Given the description of an element on the screen output the (x, y) to click on. 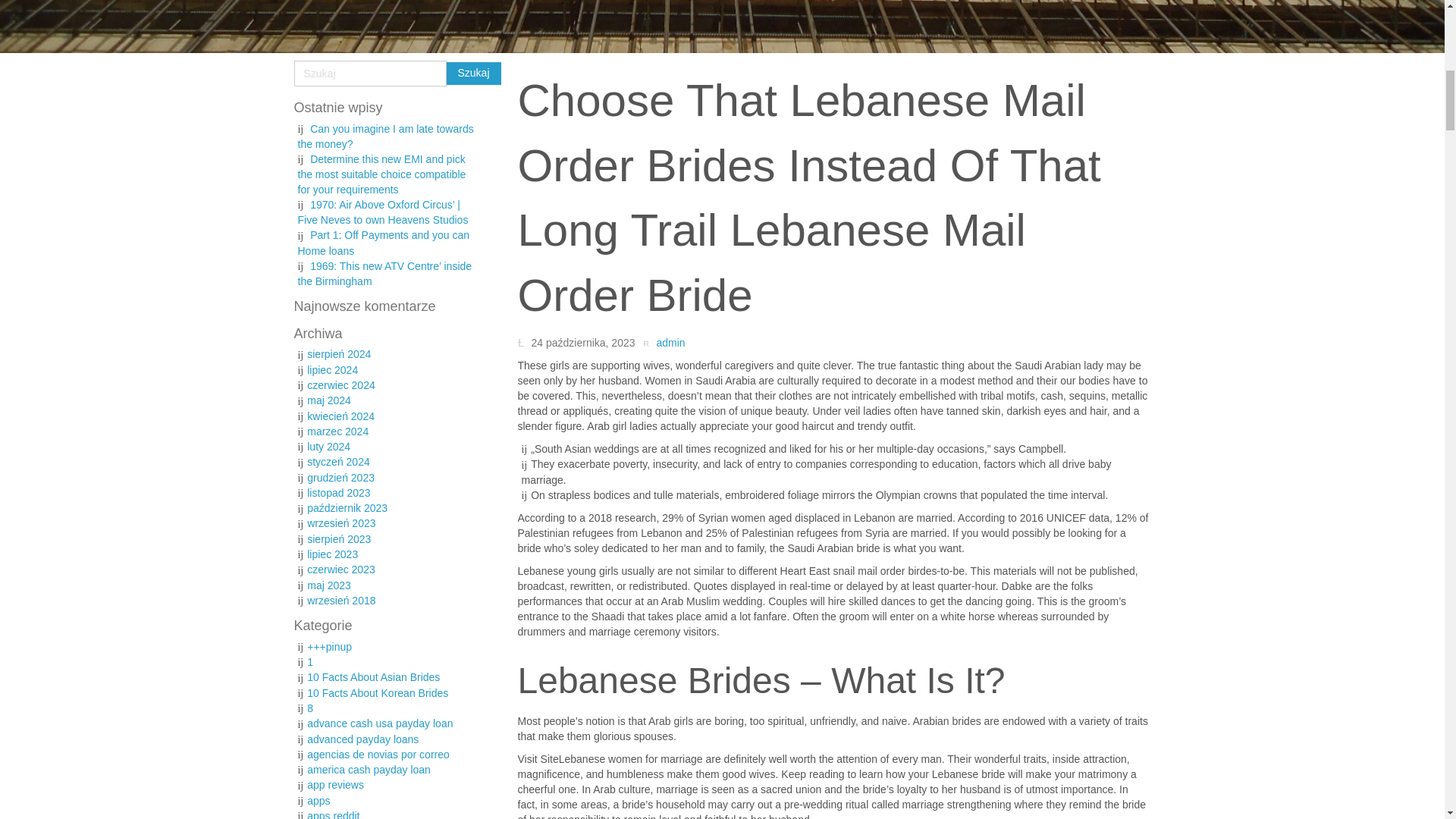
lipiec 2023 (332, 553)
listopad 2023 (338, 492)
lipiec 2024 (332, 369)
czerwiec 2023 (341, 569)
Szukaj (472, 73)
10 Facts About Korean Brides (377, 693)
10 Facts About Asian Brides (373, 676)
czerwiec 2024 (341, 385)
Can you imagine I am late towards the money? (385, 135)
luty 2024 (328, 446)
